Given the description of an element on the screen output the (x, y) to click on. 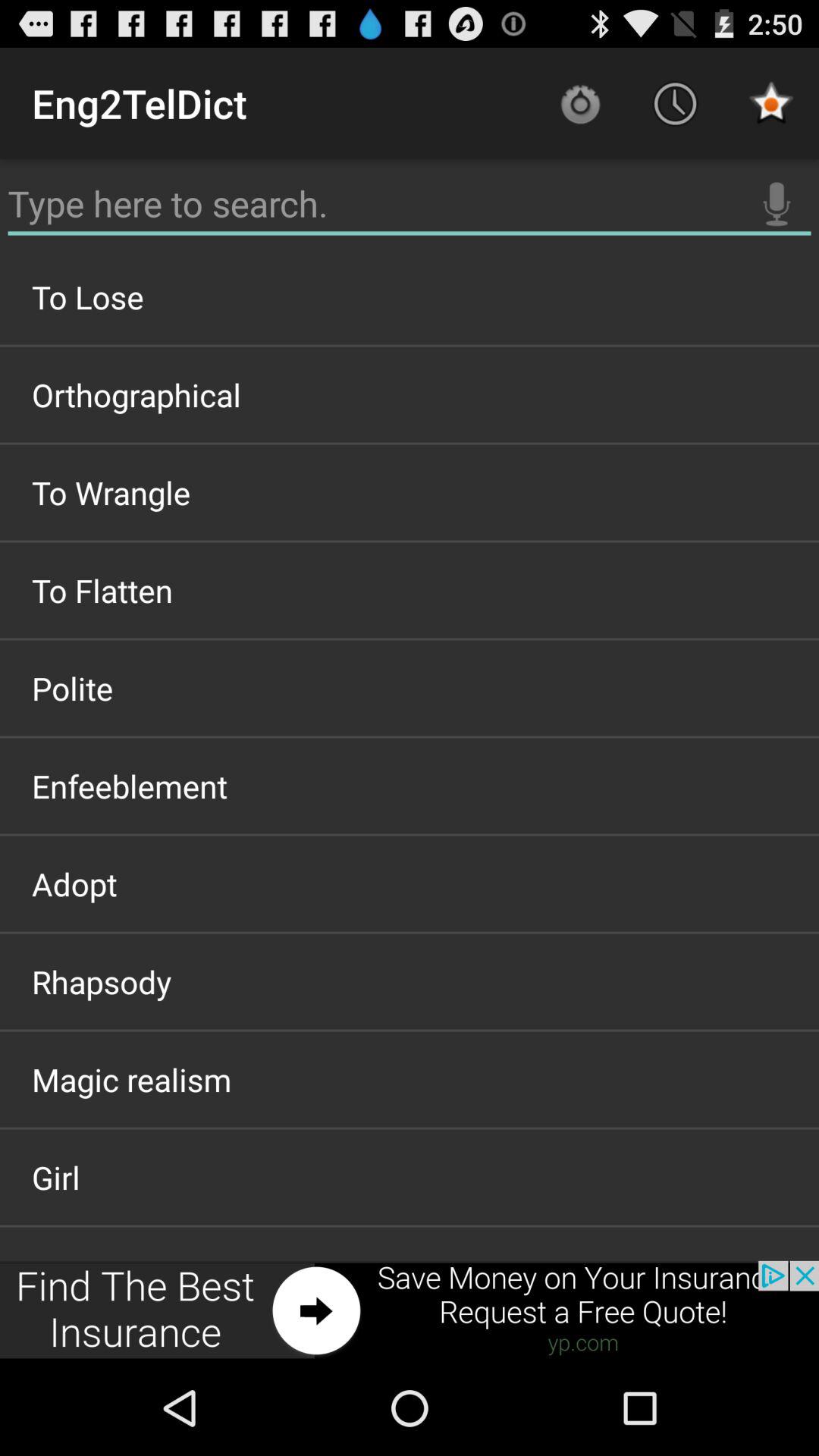
open the item above orthographical item (409, 296)
